Given the description of an element on the screen output the (x, y) to click on. 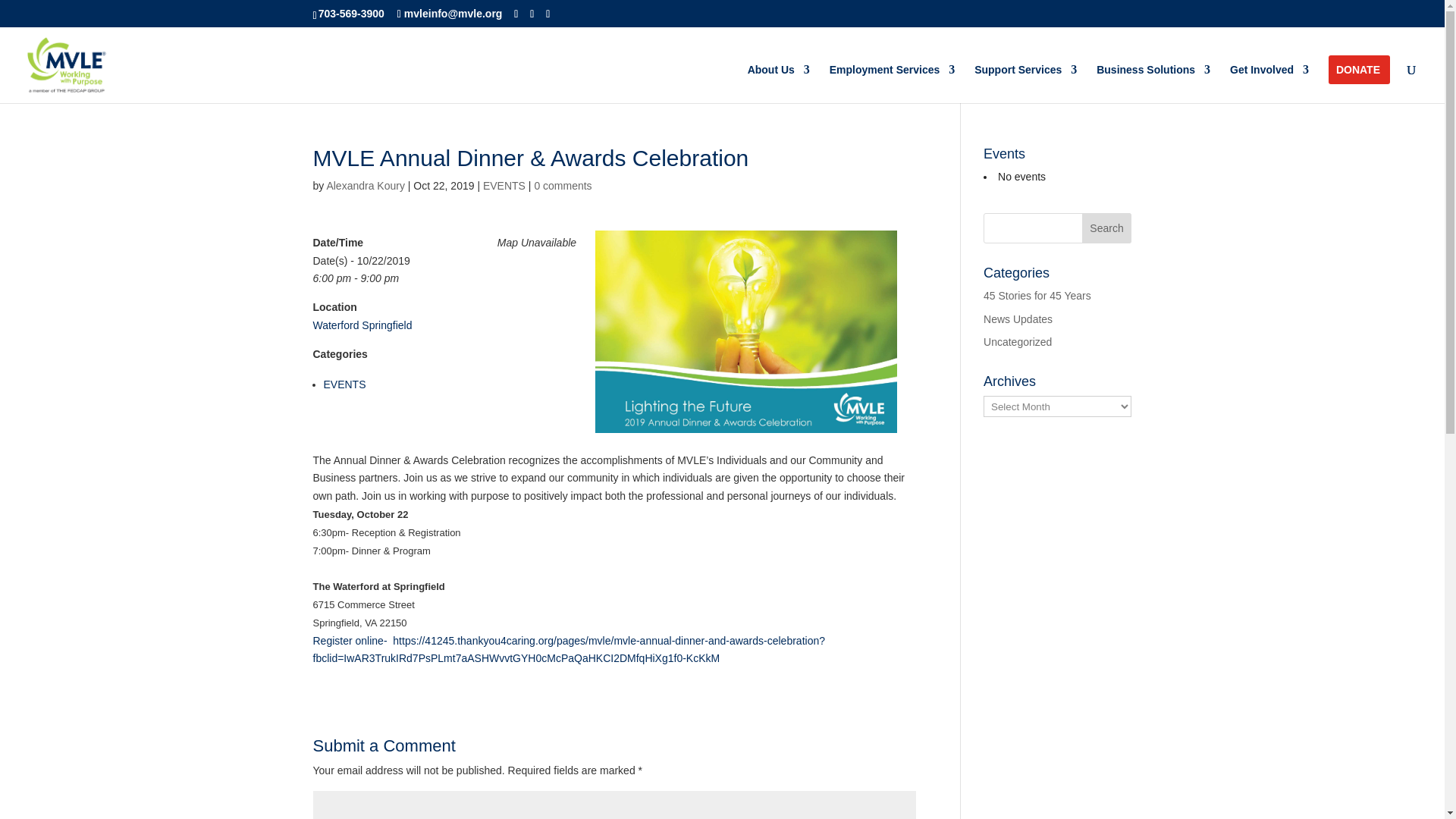
Employment Services (892, 83)
Posts by Alexandra Koury (365, 185)
About Us (778, 83)
Get Involved (1269, 83)
View all posts in EVENTS (504, 185)
Support Services (1025, 83)
Business Solutions (1152, 83)
DONATE (1358, 83)
Search (1106, 227)
